Given the description of an element on the screen output the (x, y) to click on. 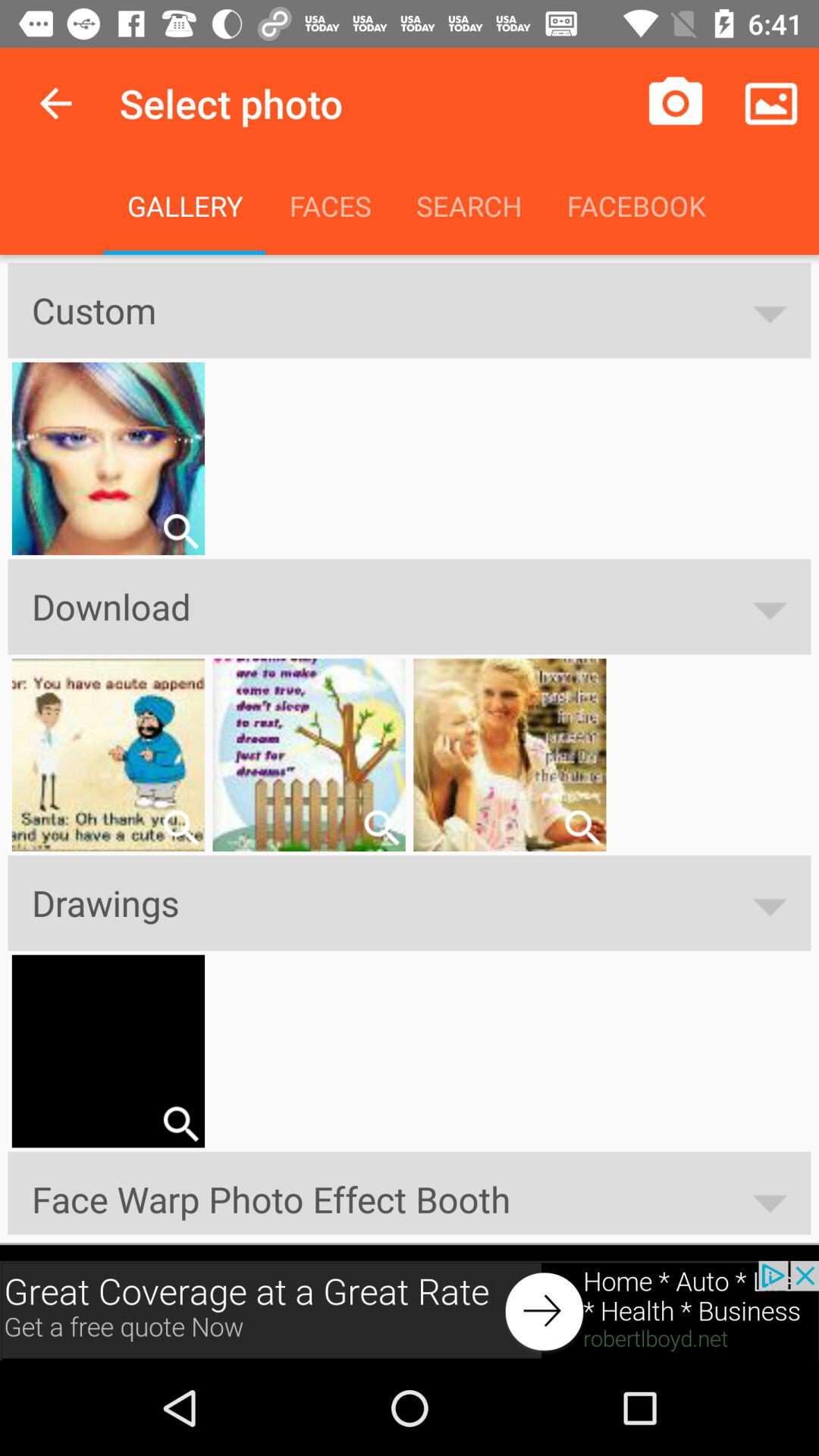
expand the image (180, 1123)
